Given the description of an element on the screen output the (x, y) to click on. 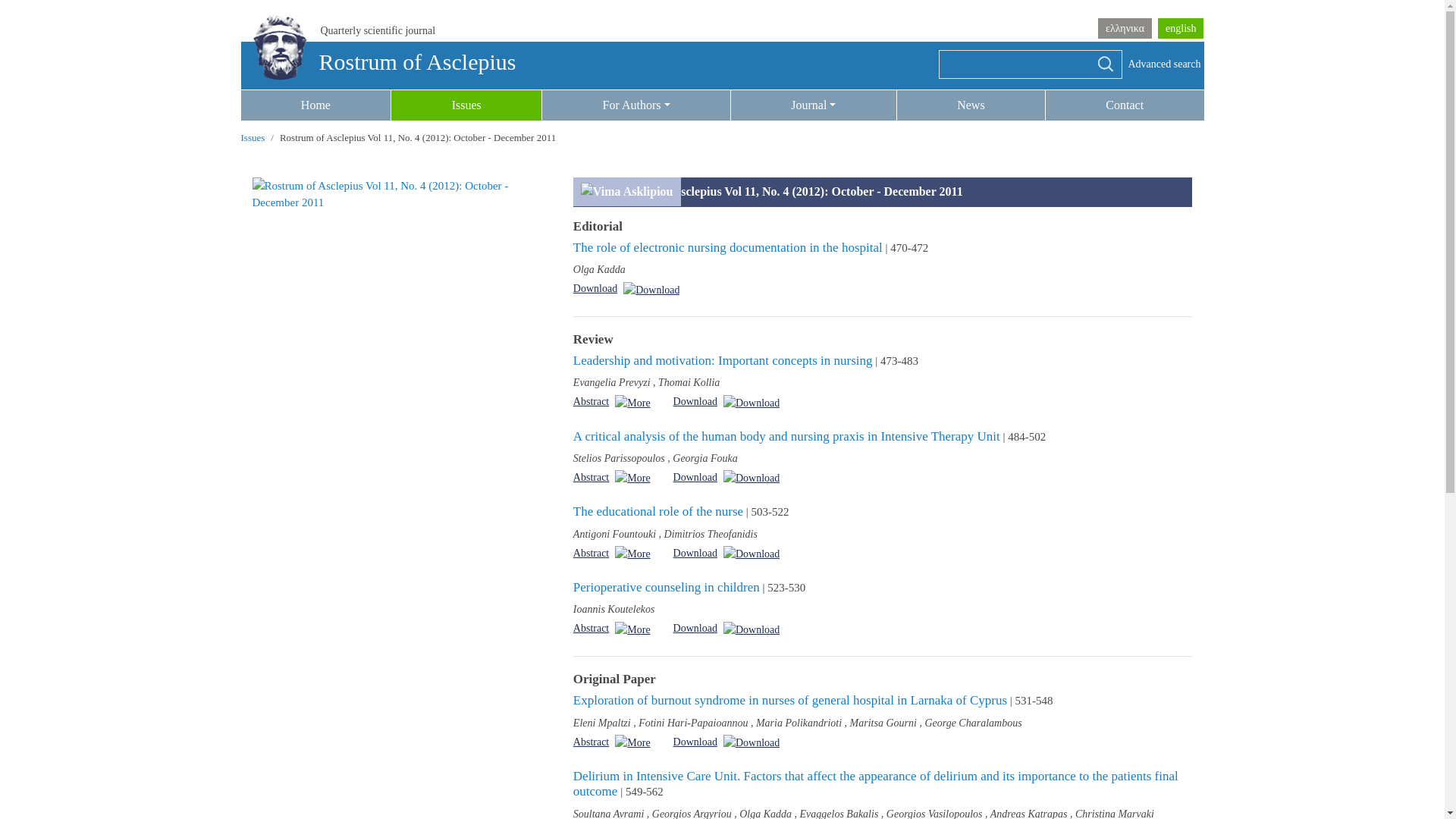
Download (726, 477)
english (1180, 28)
Georgia Fouka (704, 458)
Rostrum of Asclepius (378, 61)
Journal (813, 105)
Thomai Kollia (688, 382)
Issues (252, 137)
Stelios Parissopoulos (619, 458)
Issues (466, 105)
Download (626, 288)
